Given the description of an element on the screen output the (x, y) to click on. 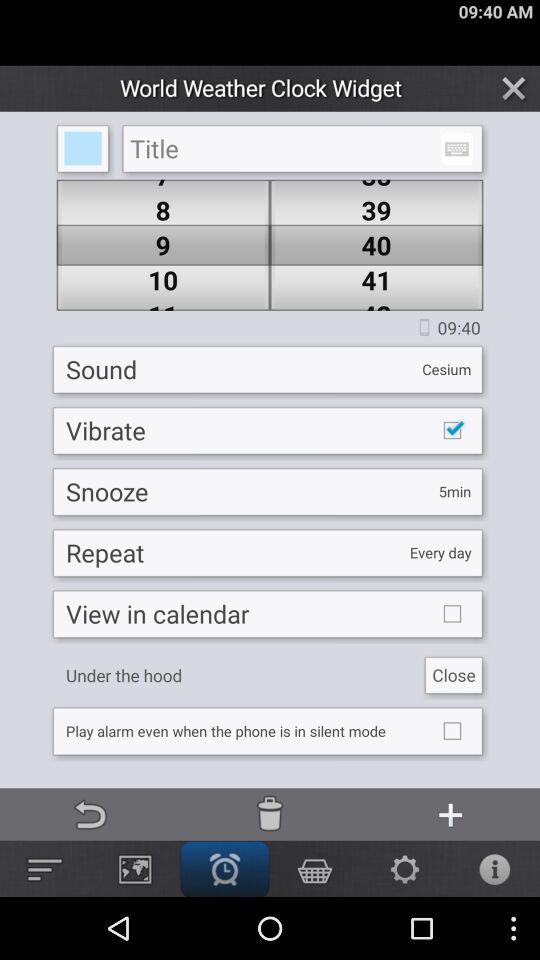
this is used to enter the title name which we want to search (302, 148)
